Given the description of an element on the screen output the (x, y) to click on. 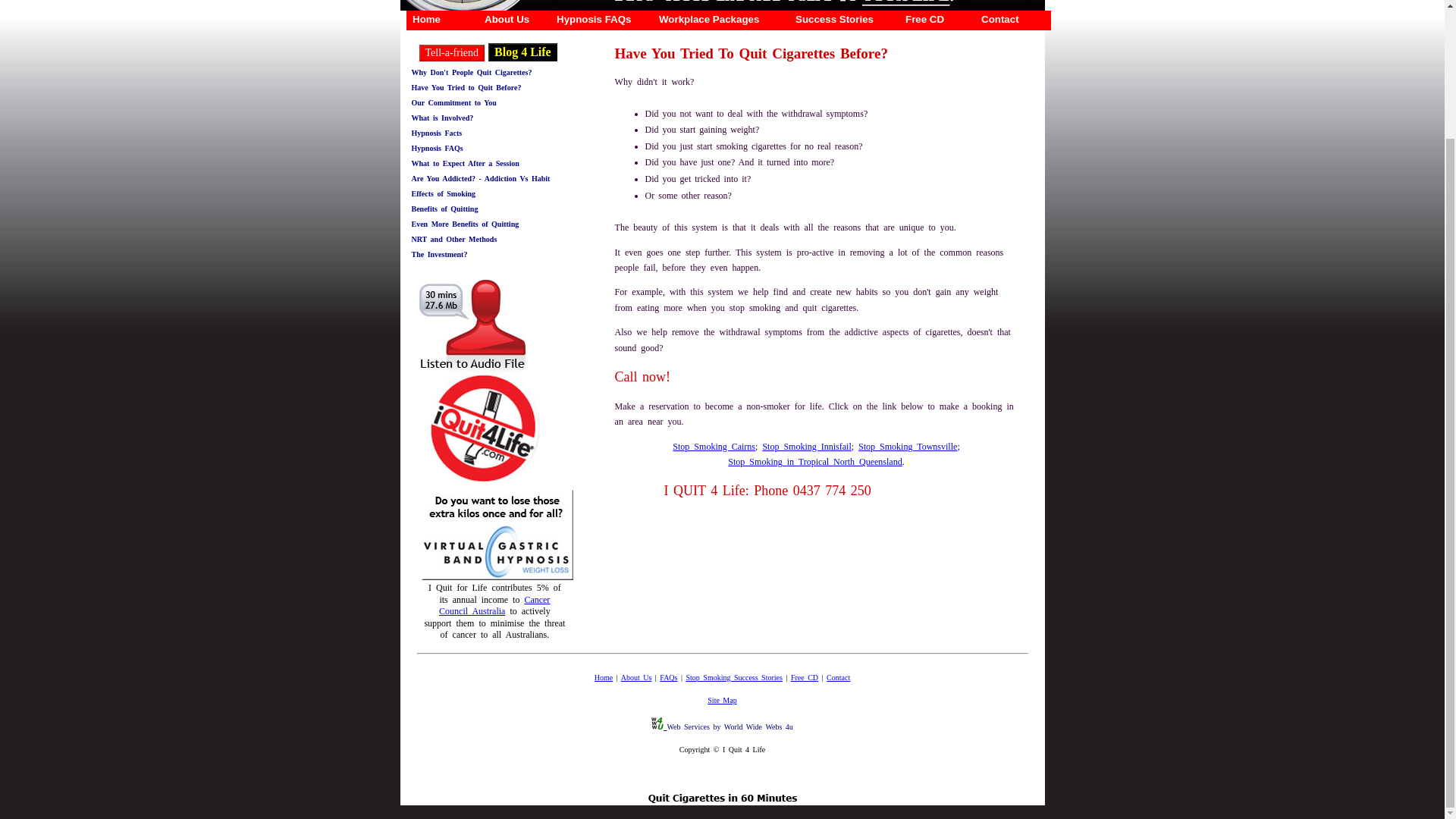
I Quit 4 Life - Home (603, 677)
Effects of Smoking (443, 193)
Site Map (721, 700)
Hypnosis Facts (435, 132)
Stop Smoking Cairns (713, 446)
Our Commitment to You (453, 102)
Are You Addicted? - Addiction Vs Habit (480, 178)
About Us (636, 677)
I Quit 4 Life - Free CD (804, 677)
Have You Tried to Quit Before? (465, 87)
